Given the description of an element on the screen output the (x, y) to click on. 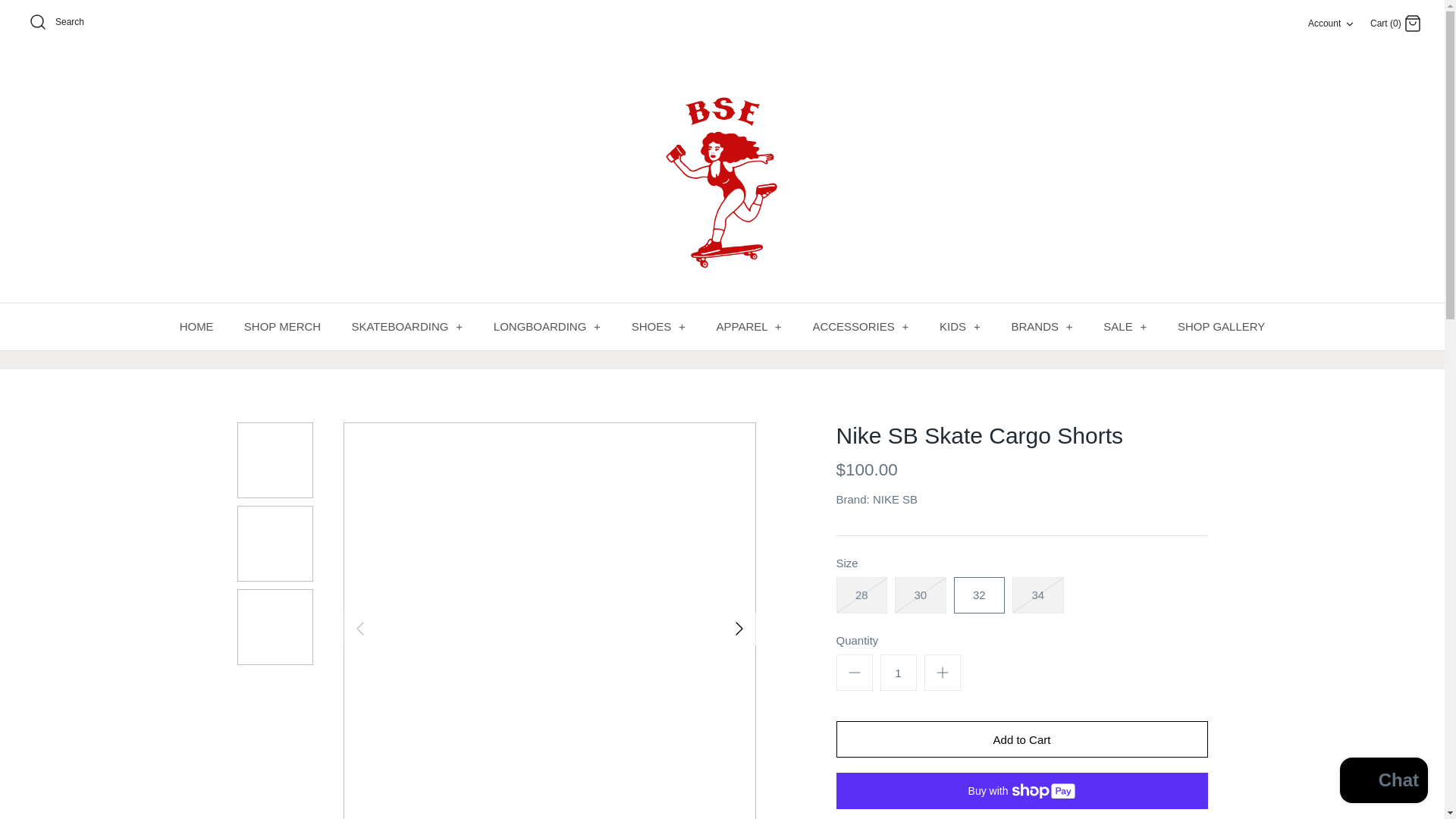
Minus (853, 672)
bse (721, 175)
SHOP MERCH (282, 327)
Add to Cart (1021, 739)
Plus (941, 672)
1 (897, 672)
Shopify online store chat (1383, 781)
Left (359, 628)
Right (1331, 23)
